Given the description of an element on the screen output the (x, y) to click on. 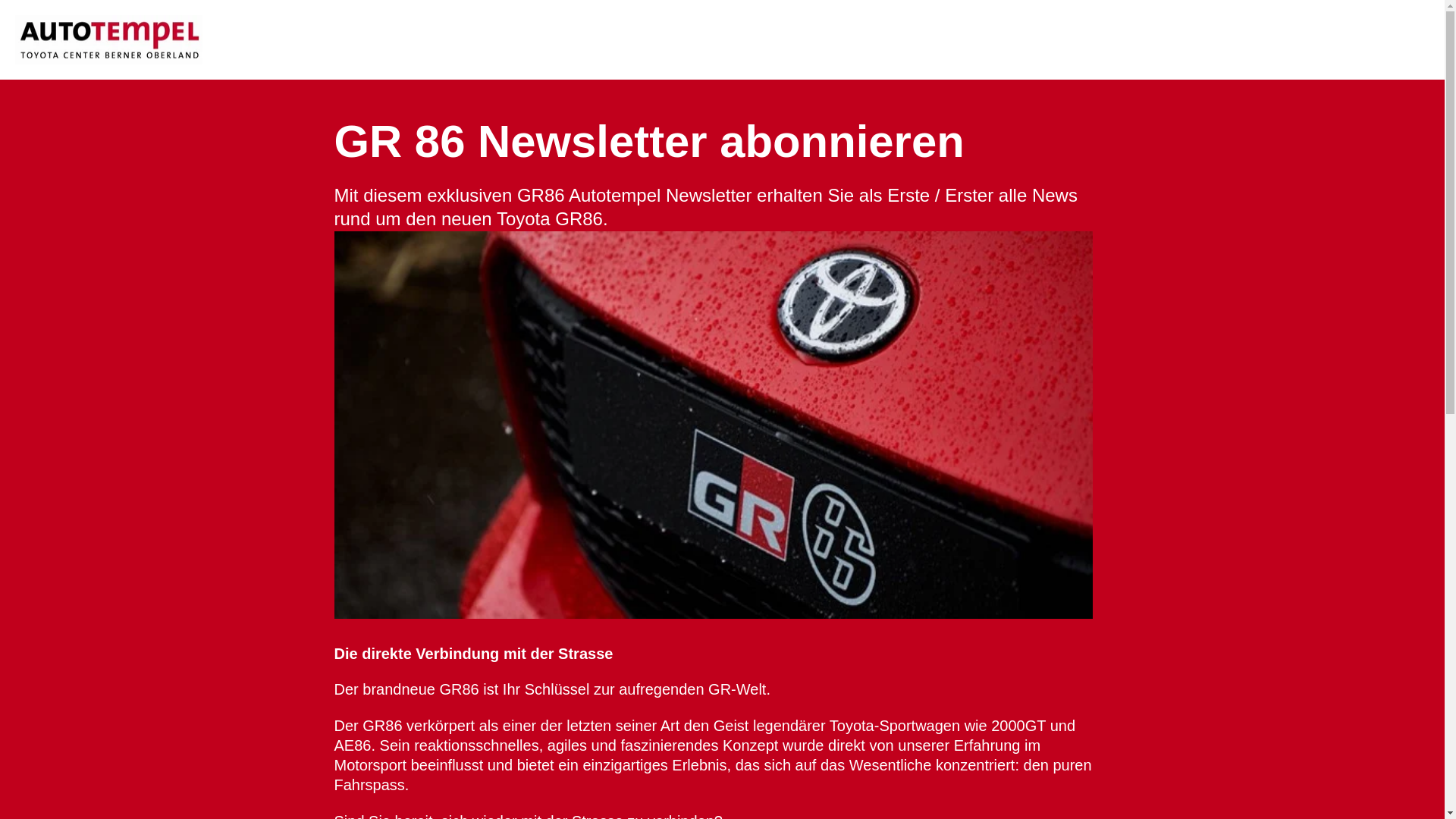
GR86 Front Element type: hover (712, 424)
Logo Auto Tempel_Toyota Center BEO-1 Element type: hover (108, 39)
